Given the description of an element on the screen output the (x, y) to click on. 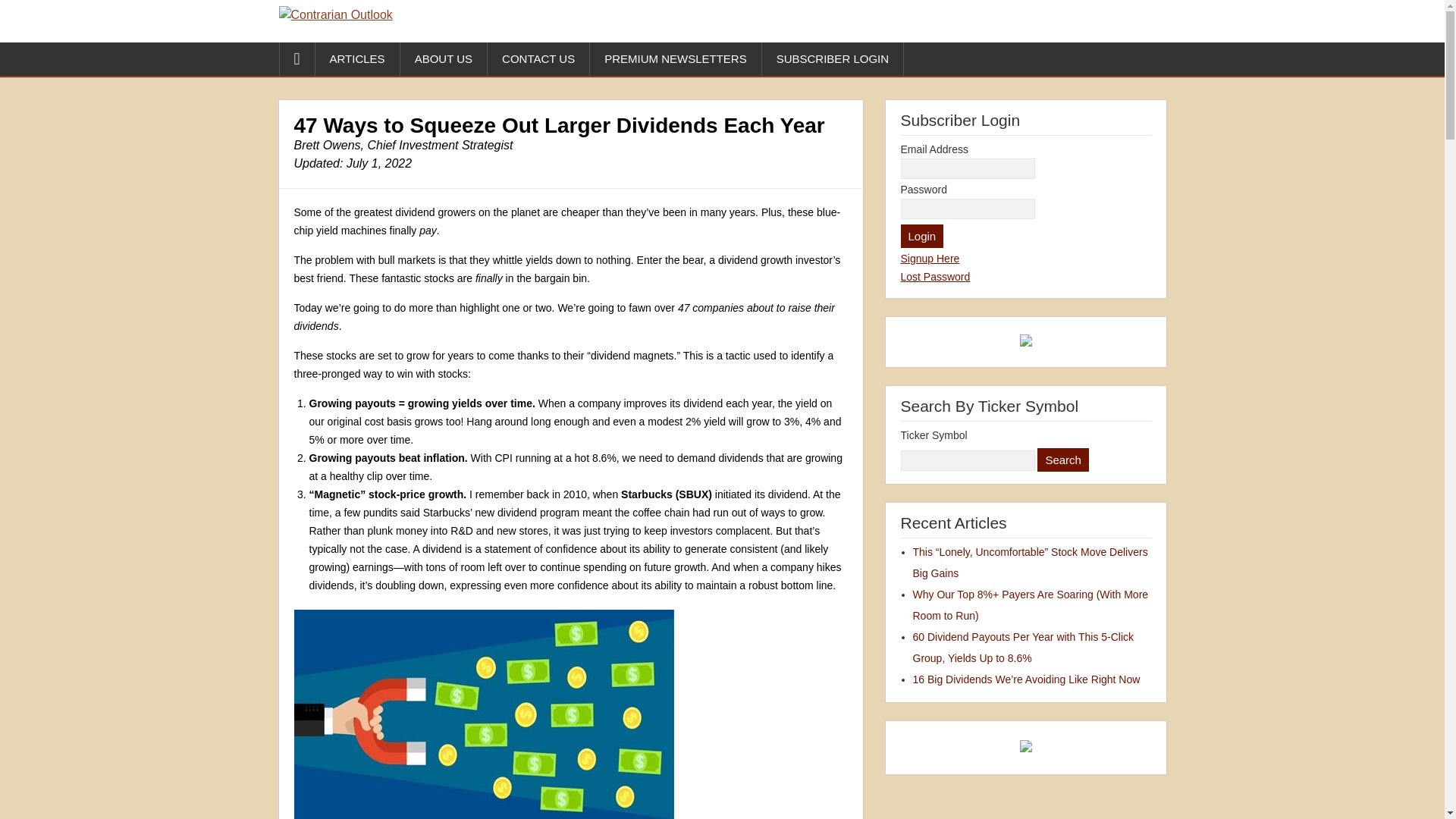
Login (922, 236)
Login (922, 236)
Lost Password (936, 276)
ARTICLES (357, 59)
SUBSCRIBER LOGIN (832, 59)
PREMIUM NEWSLETTERS (675, 59)
ABOUT US (443, 59)
Search (1062, 459)
CONTACT US (538, 59)
Signup Here (930, 258)
Search (1062, 459)
